Given the description of an element on the screen output the (x, y) to click on. 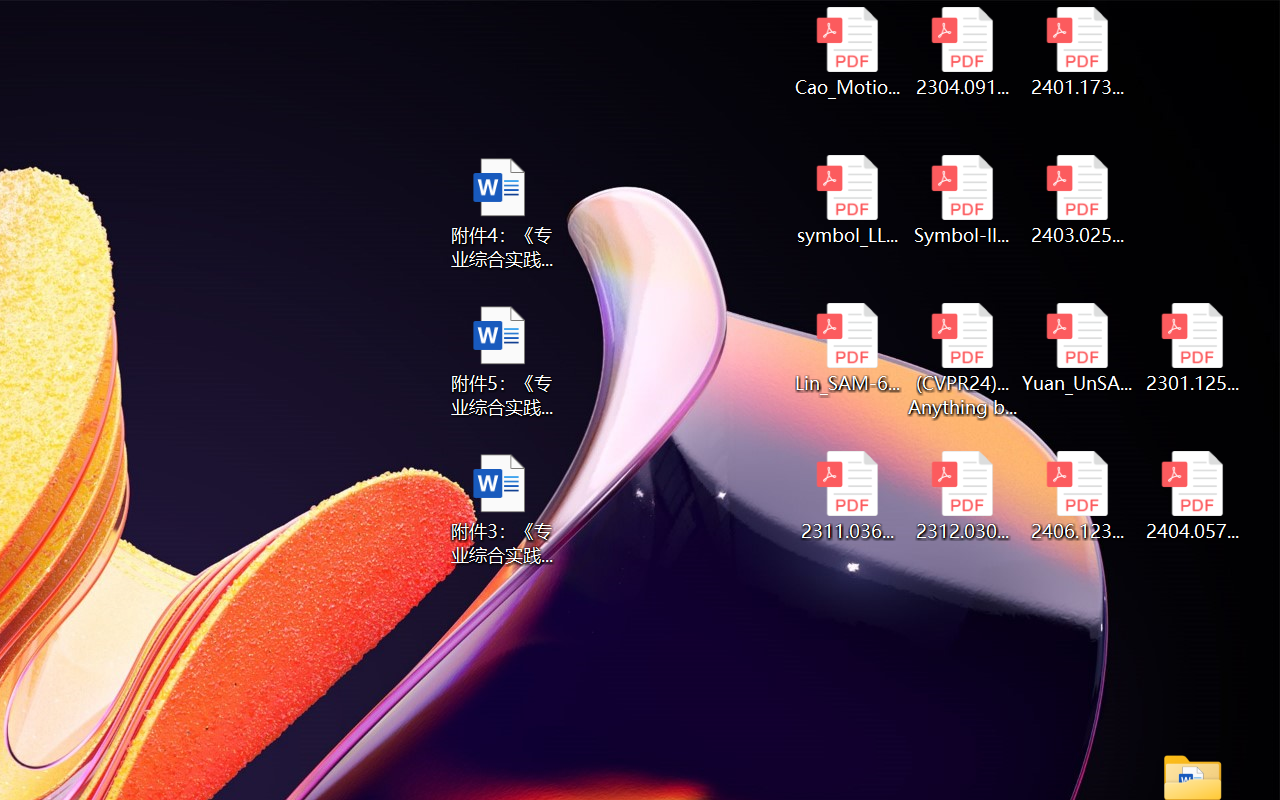
2312.03032v2.pdf (962, 496)
2403.02502v1.pdf (1077, 200)
Symbol-llm-v2.pdf (962, 200)
2401.17399v1.pdf (1077, 52)
(CVPR24)Matching Anything by Segmenting Anything.pdf (962, 360)
2404.05719v1.pdf (1192, 496)
2301.12597v3.pdf (1192, 348)
2304.09121v3.pdf (962, 52)
symbol_LLM.pdf (846, 200)
2406.12373v2.pdf (1077, 496)
